Given the description of an element on the screen output the (x, y) to click on. 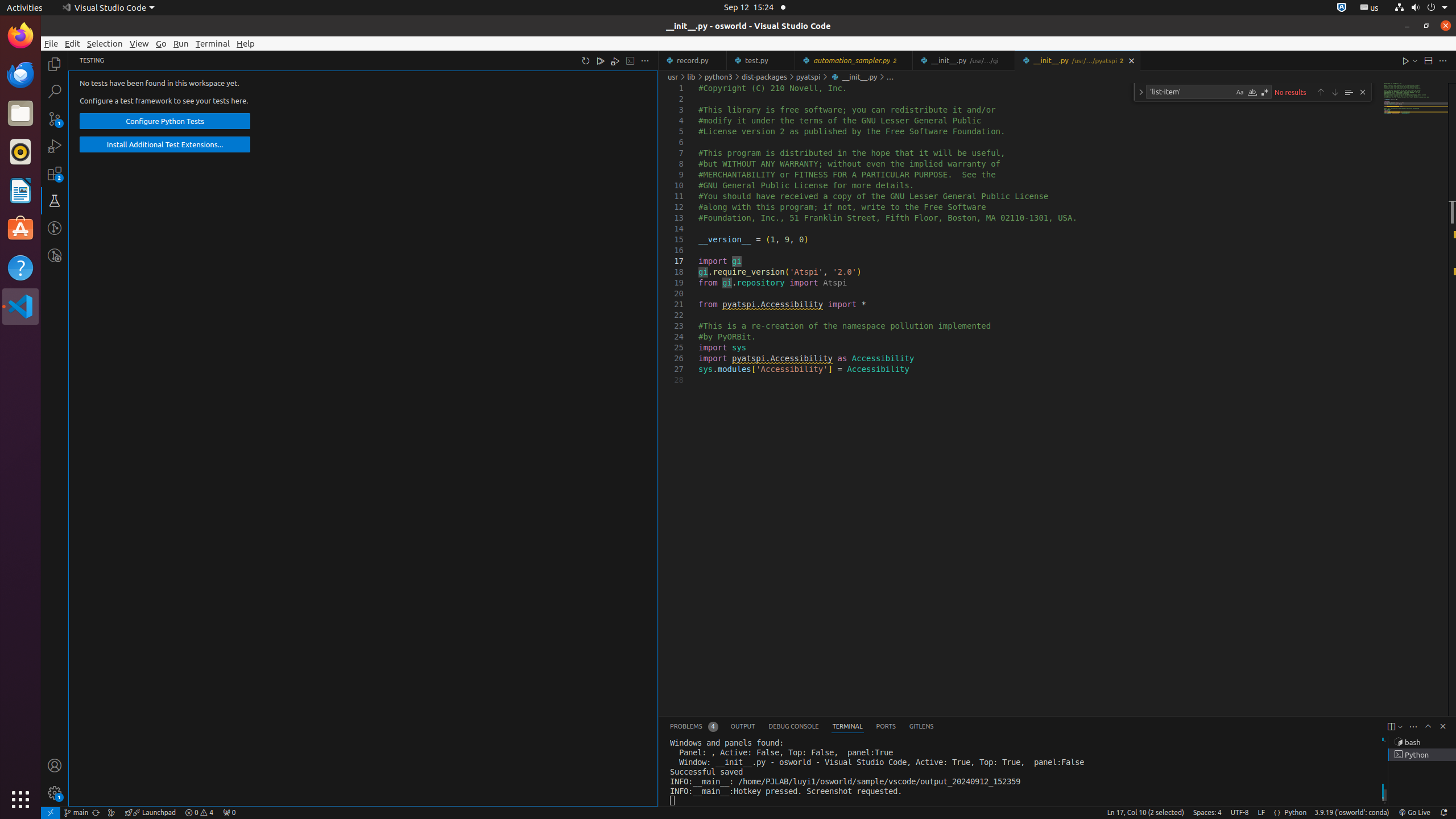
GitLens Inspect Element type: page-tab (54, 255)
Notifications Element type: push-button (1443, 812)
Show Output (Ctrl+; Ctrl+O) Element type: push-button (629, 60)
Close (Ctrl+W) Element type: push-button (1131, 60)
